Given the description of an element on the screen output the (x, y) to click on. 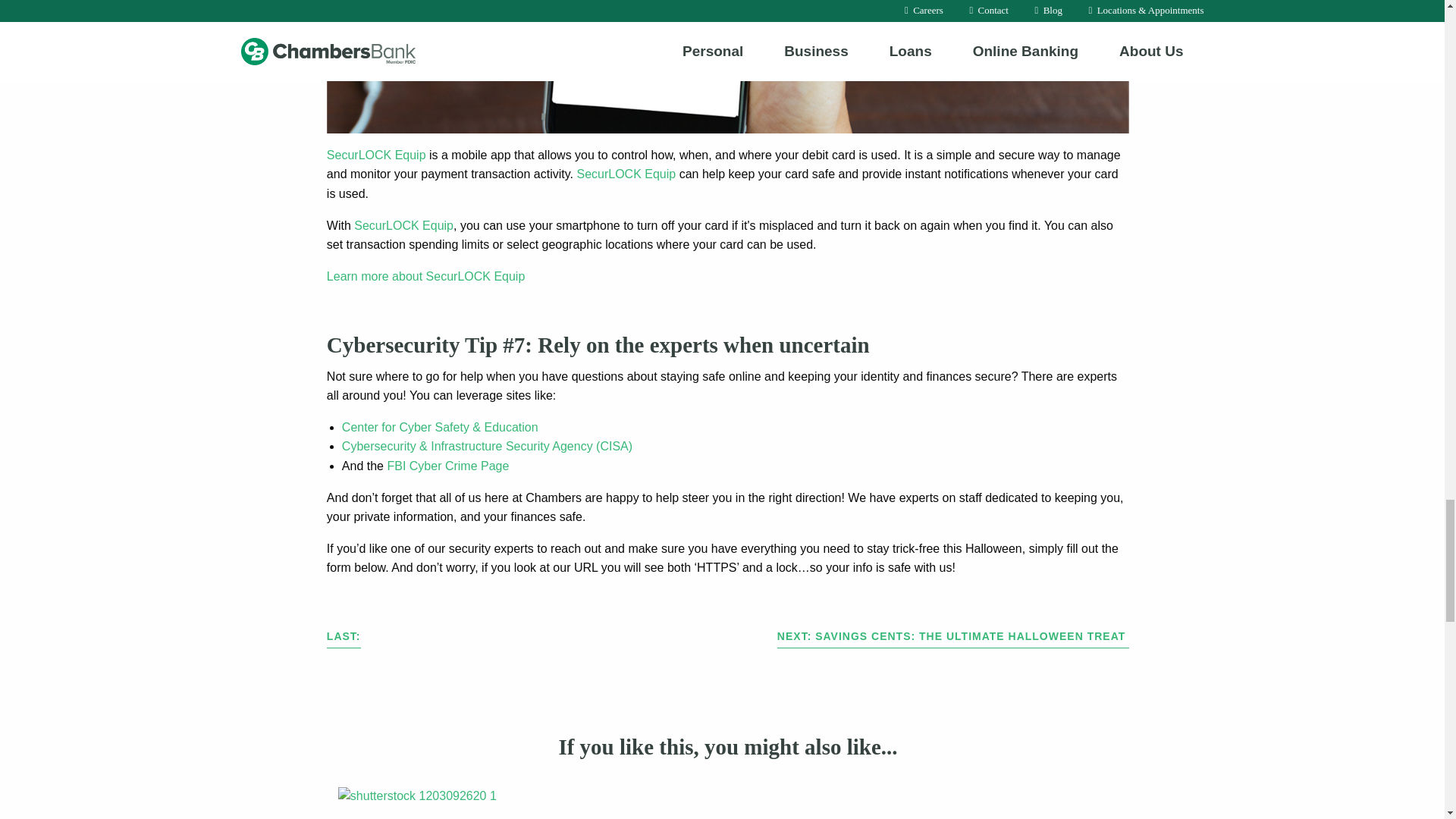
FBI Cyber Crime Page (447, 465)
SecurLOCK v2 (727, 66)
